Given the description of an element on the screen output the (x, y) to click on. 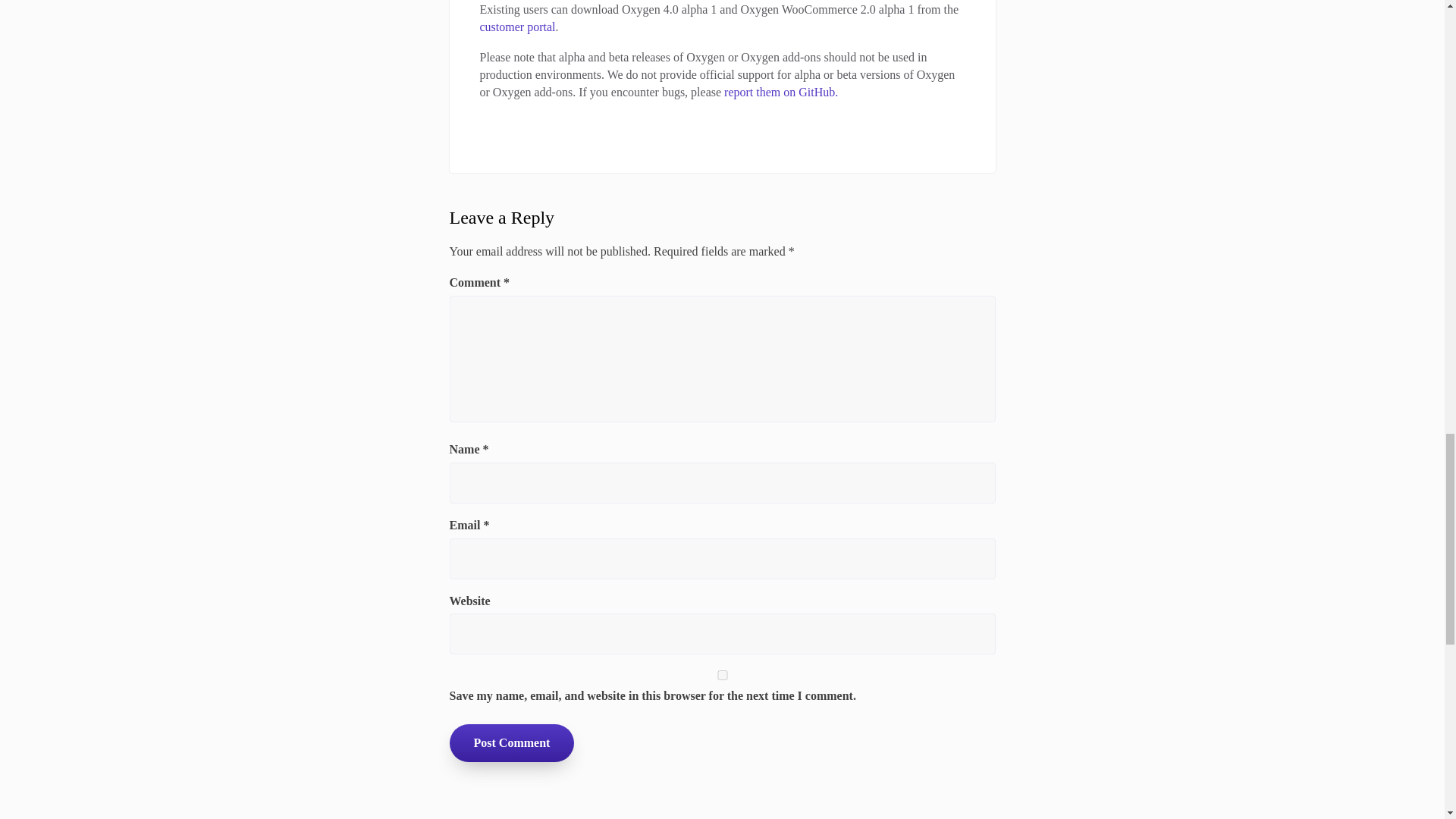
yes (721, 675)
Post Comment (510, 742)
